Given the description of an element on the screen output the (x, y) to click on. 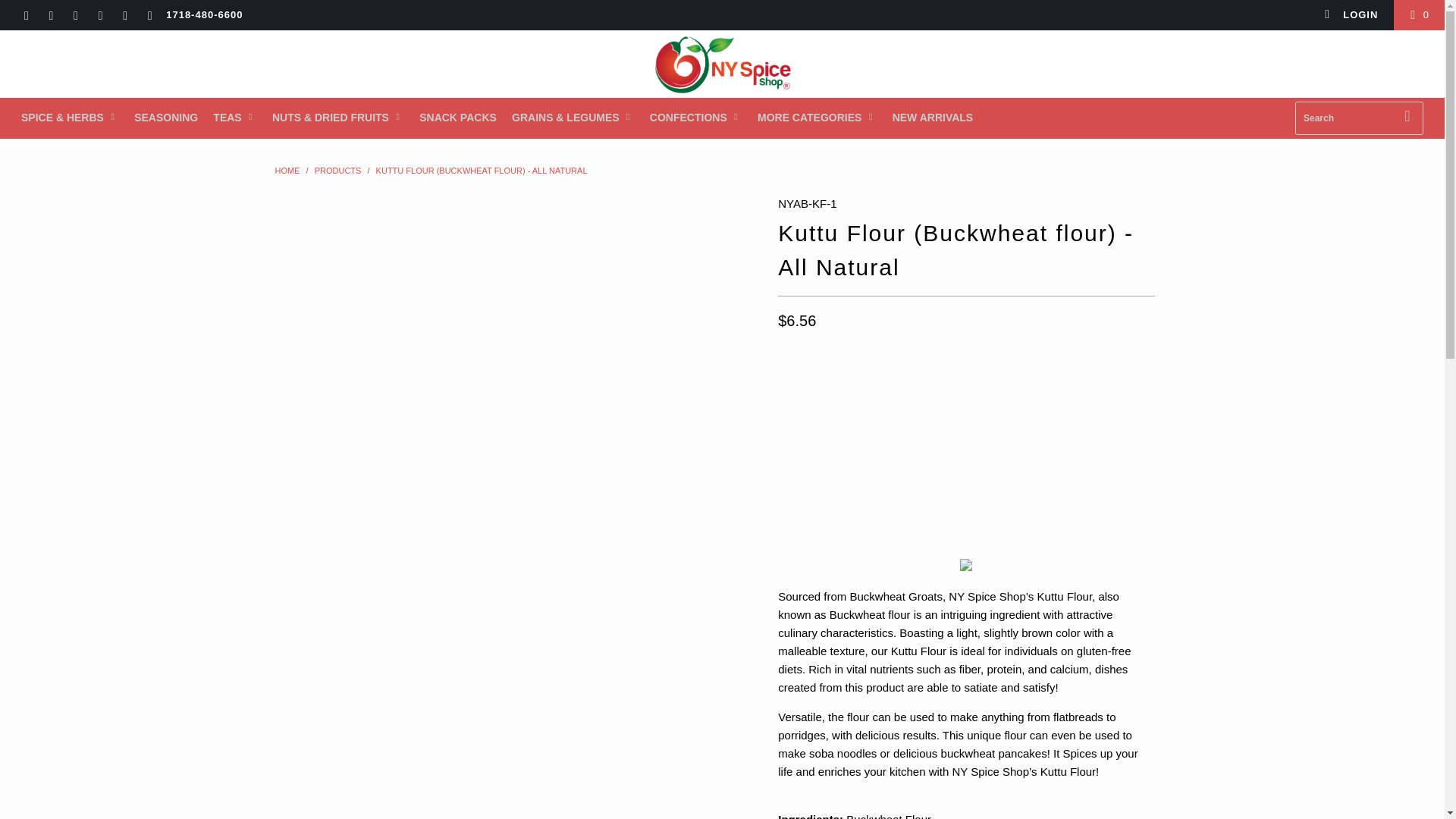
NY Spice Shop on Facebook (50, 16)
NY Spice Shop on Twitter (25, 16)
Products (337, 170)
NY Spice Shop on Pinterest (99, 16)
Email NY Spice Shop (148, 16)
NY Spice Shop on Instagram (124, 16)
NY Spice Shop (287, 170)
My Account  (1351, 15)
NY Spice Shop on YouTube (74, 16)
